Given the description of an element on the screen output the (x, y) to click on. 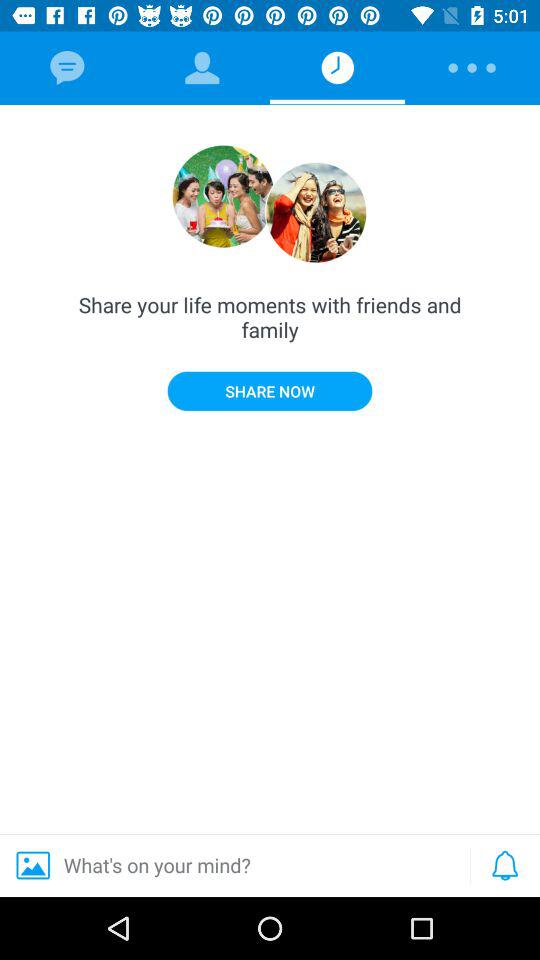
turn off the item below share now (232, 865)
